Given the description of an element on the screen output the (x, y) to click on. 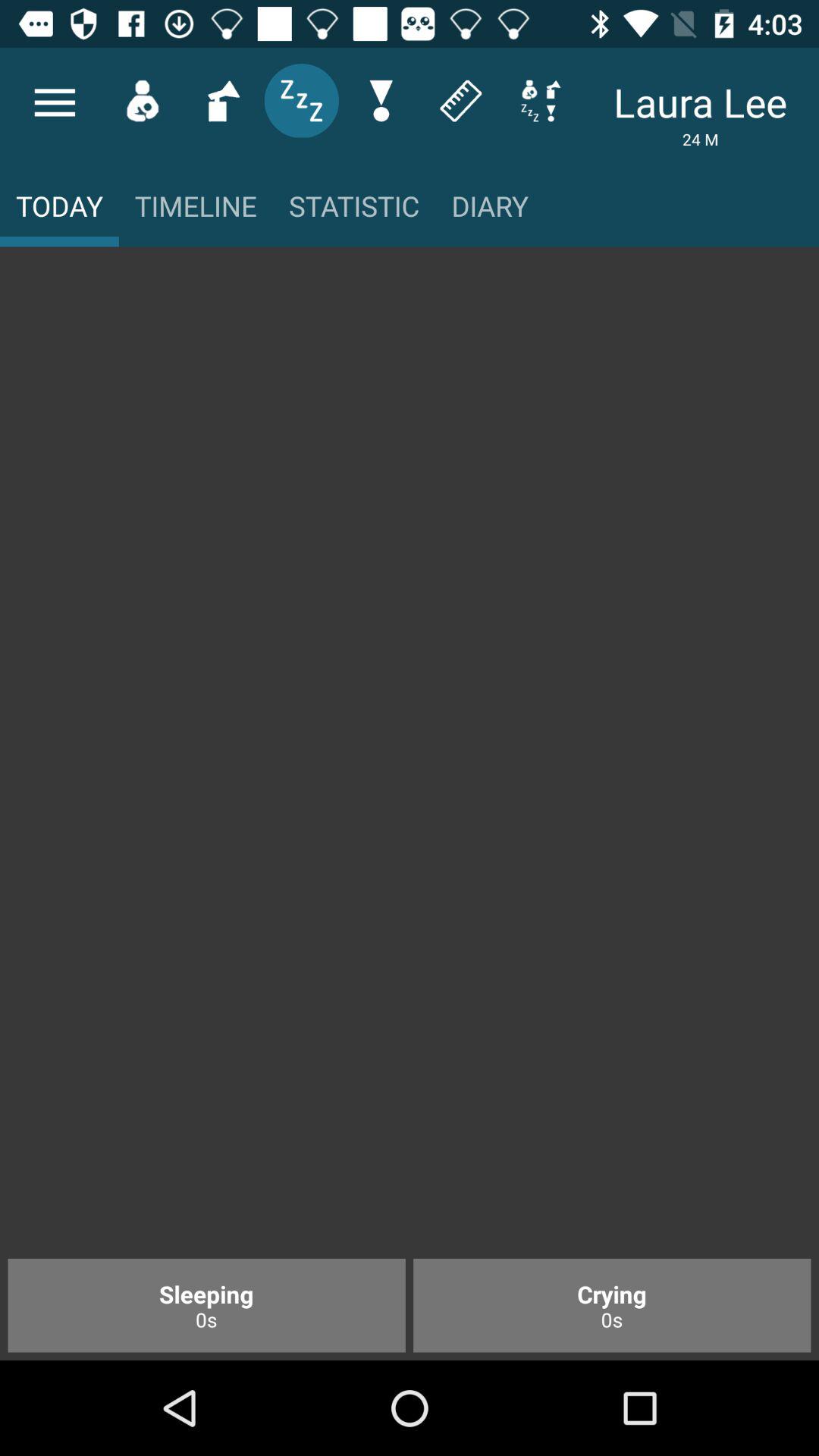
turn off the crying
0s item (612, 1305)
